Given the description of an element on the screen output the (x, y) to click on. 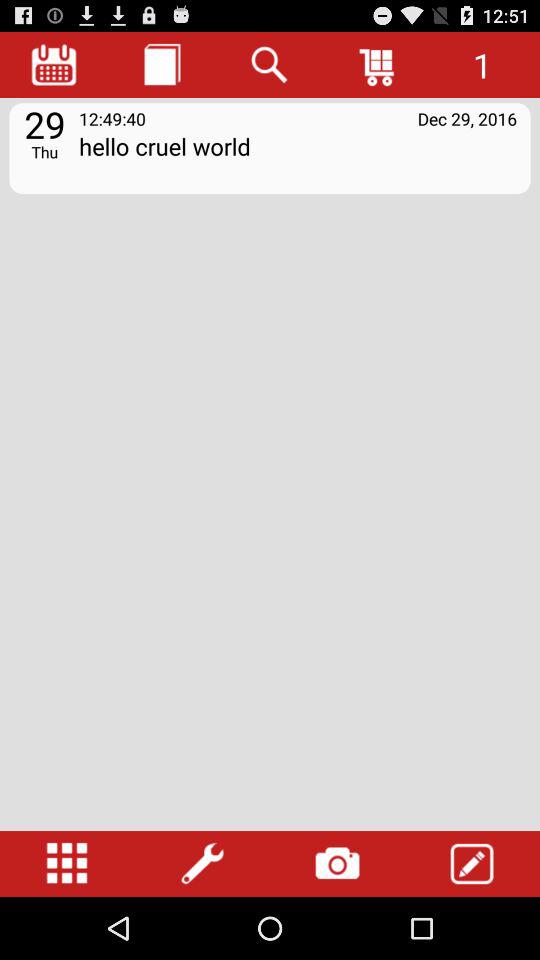
type tool (472, 863)
